Given the description of an element on the screen output the (x, y) to click on. 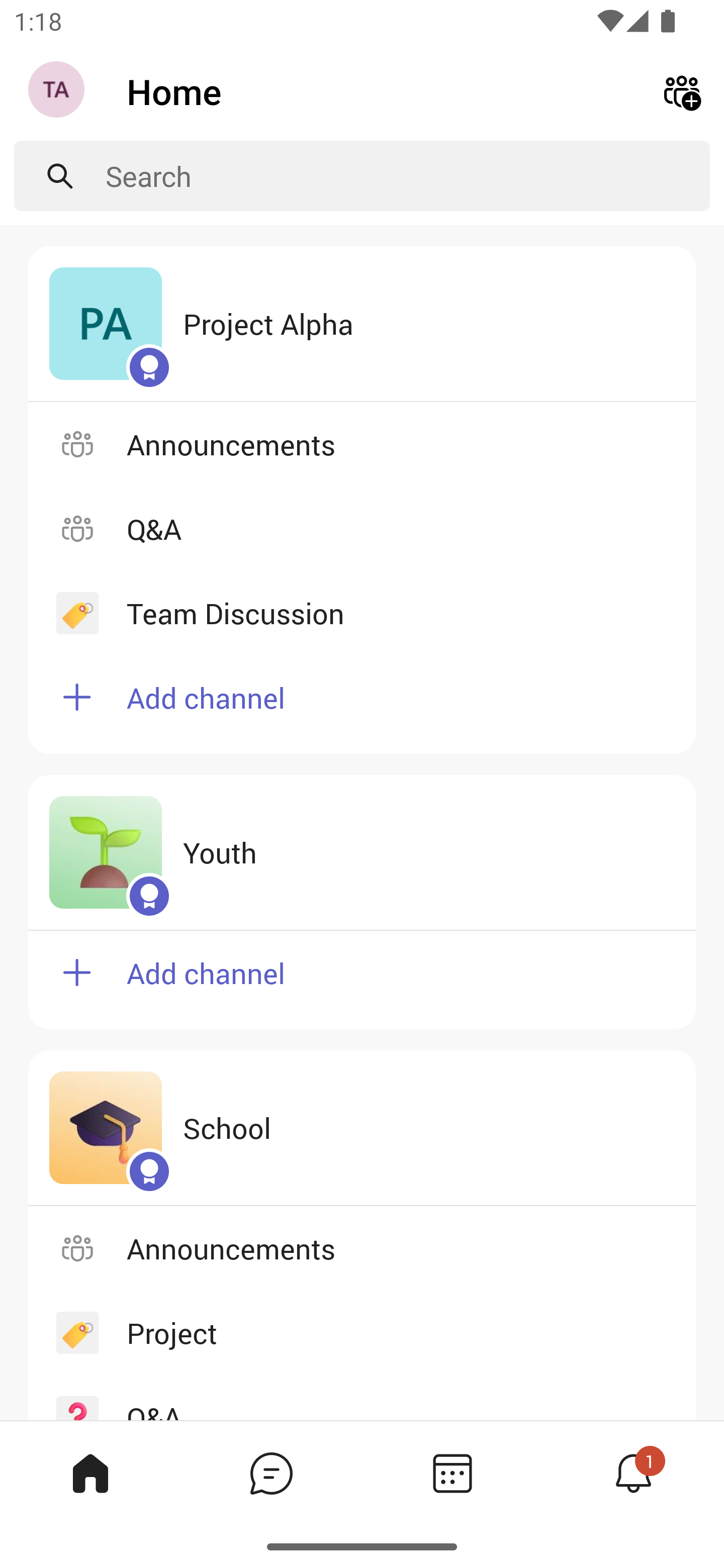
Create new community (681, 90)
Navigation (58, 91)
Search (407, 176)
Project Alpha Community. Project Alpha (361, 323)
Announcements Channel. Announcements (361, 443)
Q&A Channel. Q&A (361, 528)
Team Discussion Channel. Team Discussion (361, 612)
Youth Community. Youth (361, 852)
Add a new channel to Youth community Add channel (361, 979)
School Community. School (361, 1127)
Announcements Channel. Announcements (361, 1247)
Project Channel. Project (361, 1332)
Home tab, 1 of 4 (90, 1472)
Chat tab,2 of 4, not selected (271, 1472)
Calendar tab,3 of 4, not selected (452, 1472)
Activity tab,4 of 4, not selected, 1 new 1 (633, 1472)
